Given the description of an element on the screen output the (x, y) to click on. 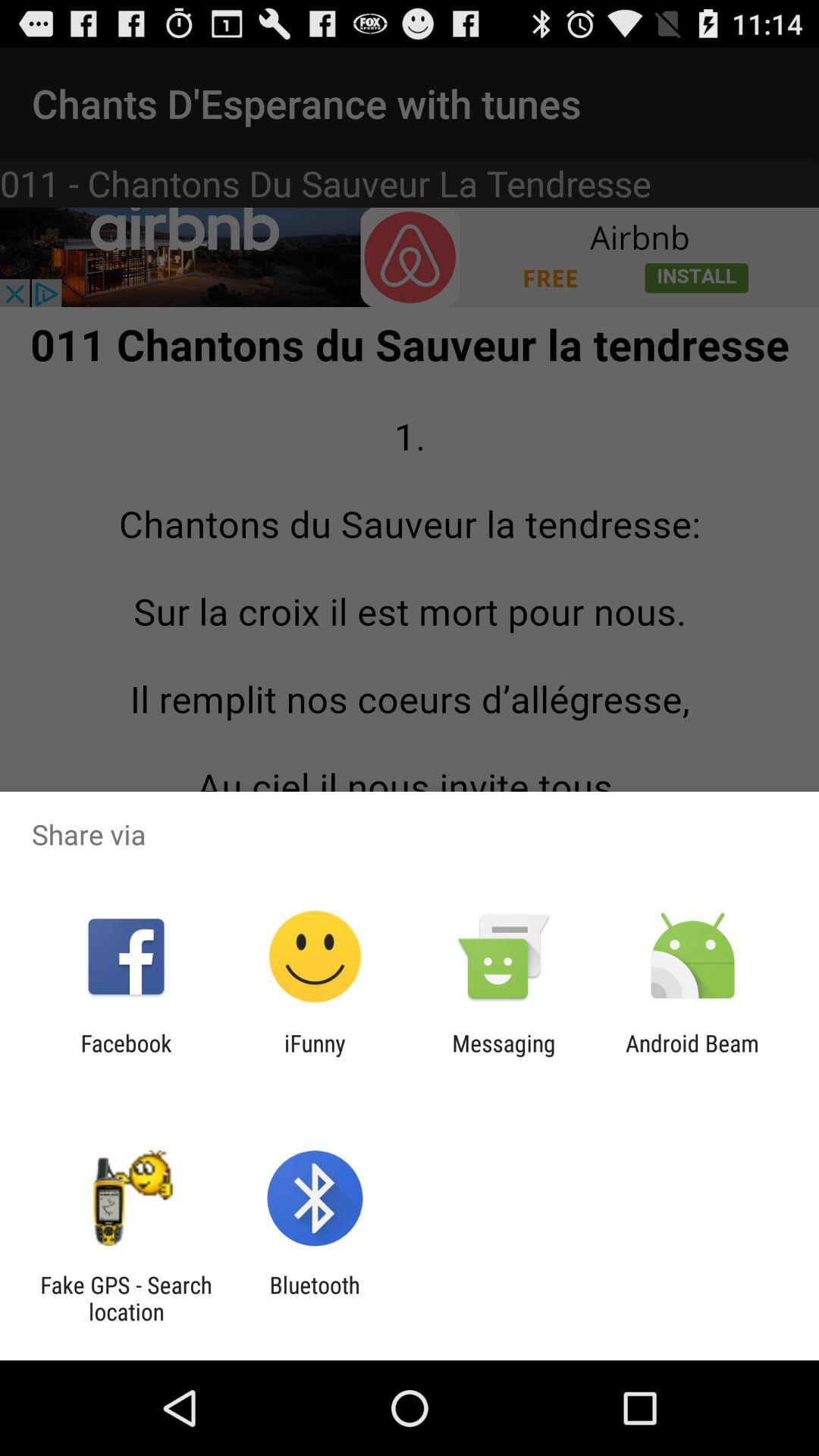
swipe until the facebook app (125, 1056)
